Given the description of an element on the screen output the (x, y) to click on. 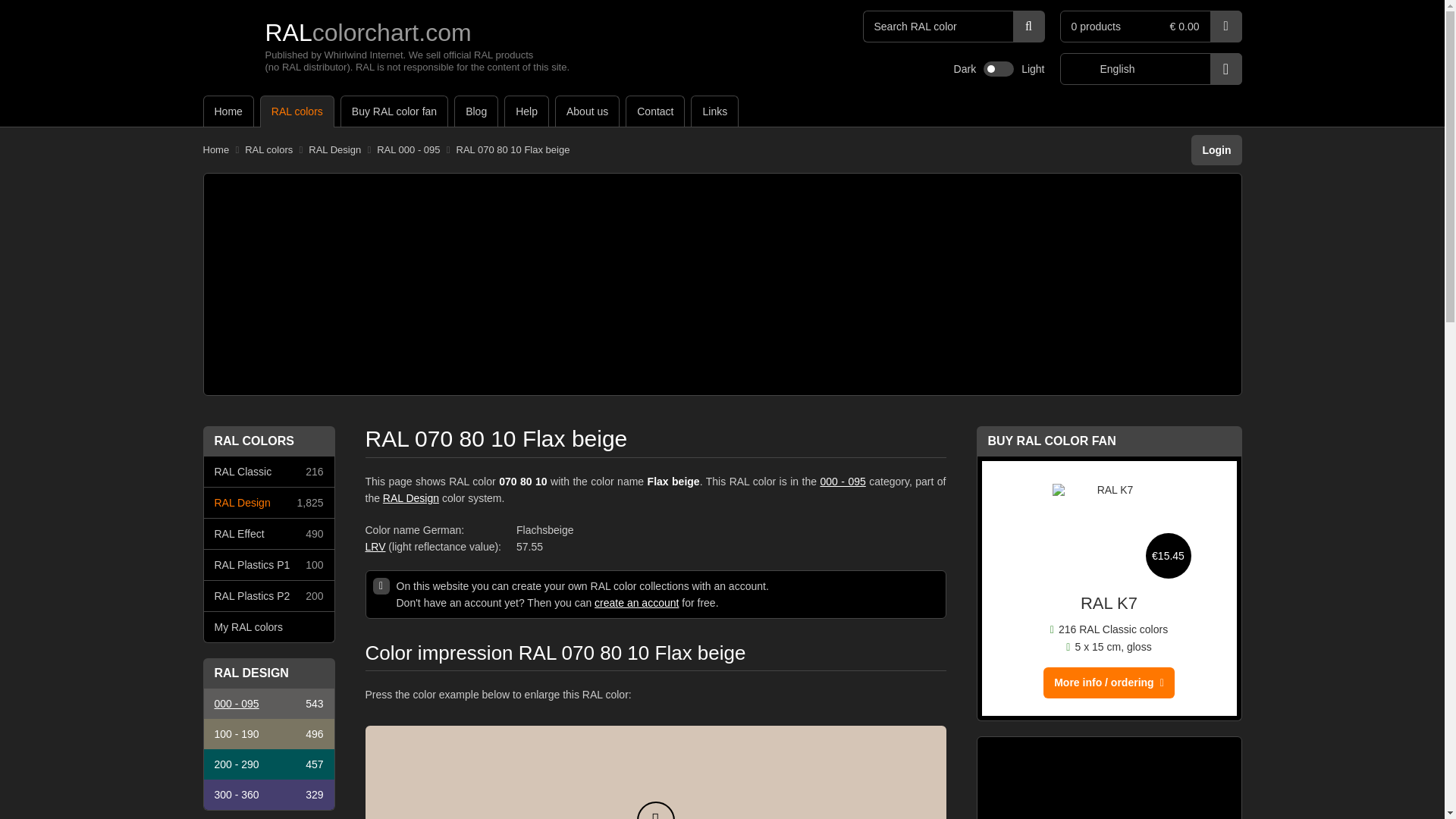
Search (1029, 26)
English (1150, 69)
Links (714, 111)
English (1150, 69)
Home (228, 111)
Blog (475, 111)
RAL 000 - 095 (408, 150)
About us (587, 111)
RAL 070 80 10 Flax beige (513, 150)
Contact (655, 111)
